Given the description of an element on the screen output the (x, y) to click on. 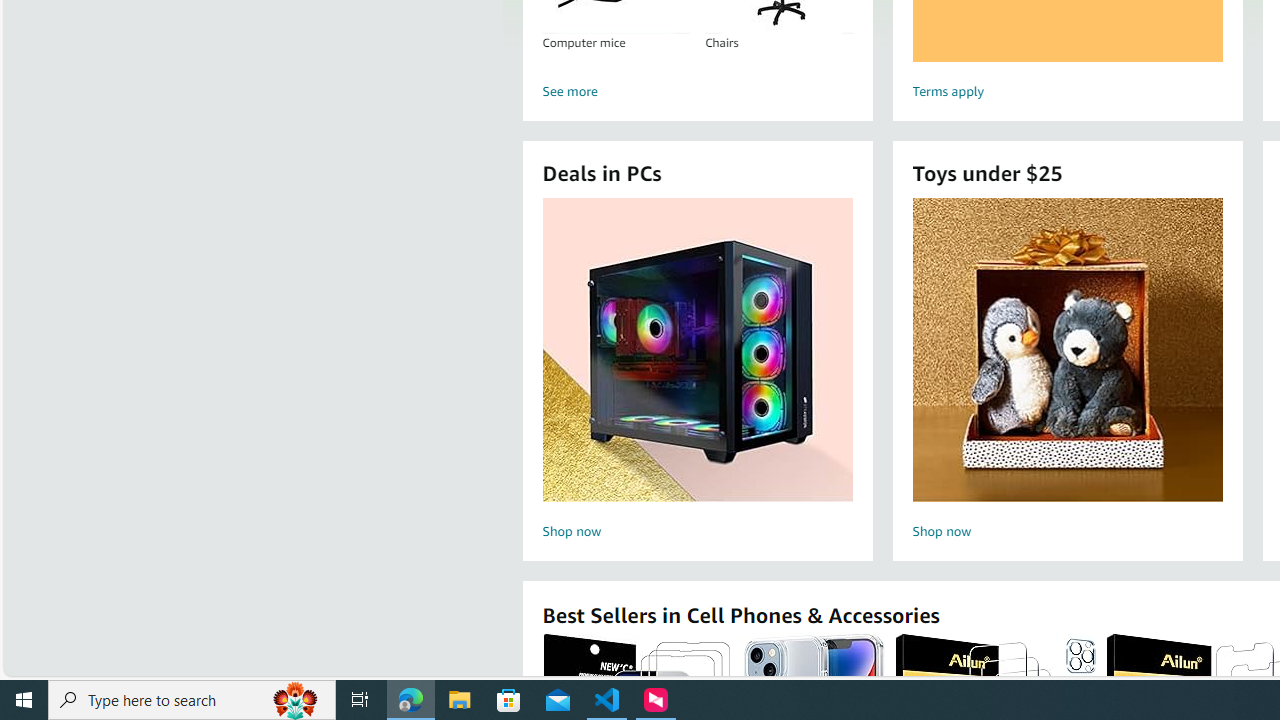
Deals in PCs (697, 349)
Toys under $25 (1067, 349)
Toys under $25 Shop now (1067, 371)
Deals in PCs Shop now (697, 371)
